Given the description of an element on the screen output the (x, y) to click on. 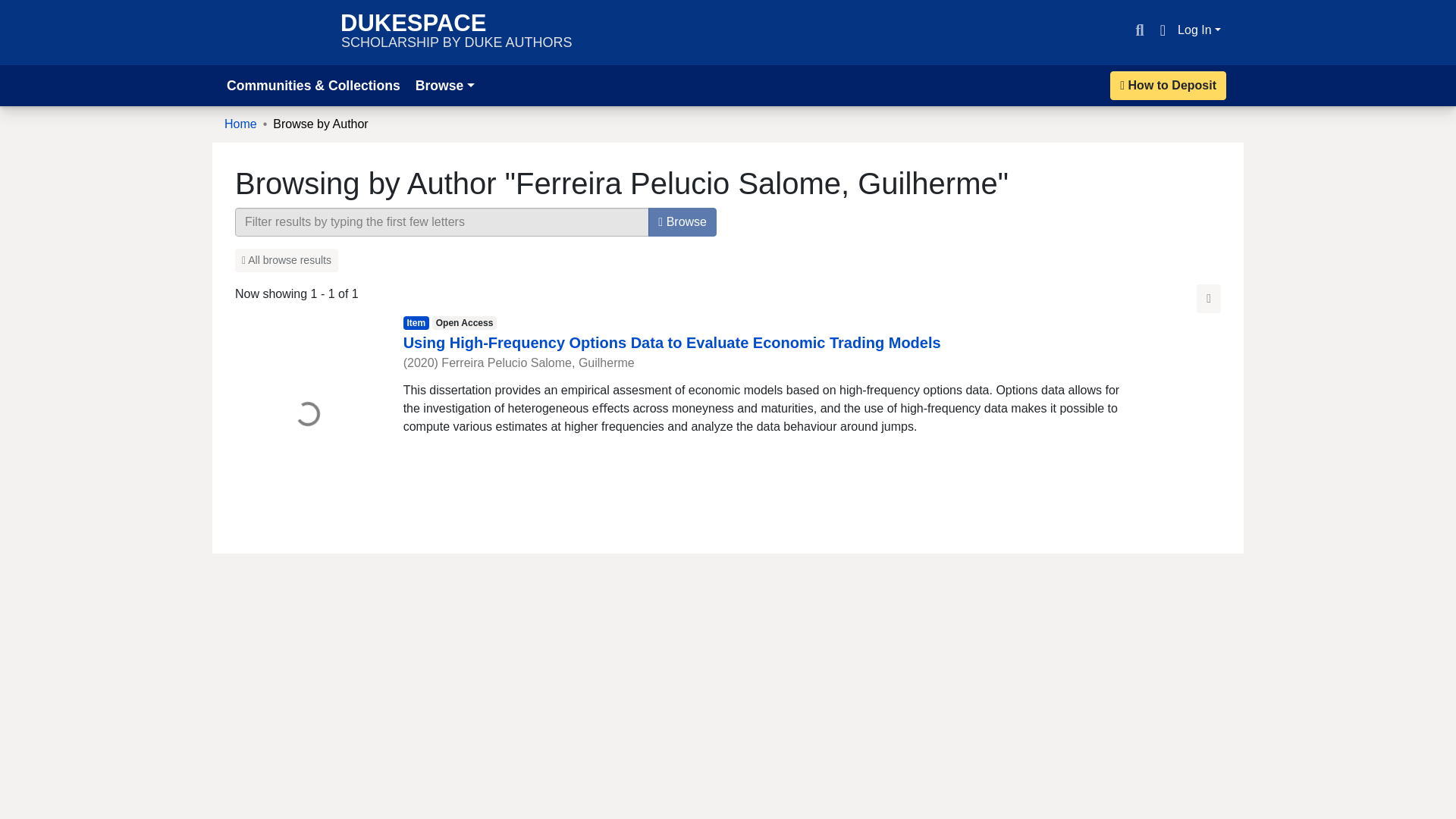
Browse (681, 222)
Search (456, 32)
How to Deposit (1138, 30)
Browse (1167, 85)
Log In (444, 85)
Home (1199, 29)
Language switch (240, 124)
Duke University Libraries (1162, 30)
Skip to Main Content (274, 32)
All browse results (18, 9)
